Given the description of an element on the screen output the (x, y) to click on. 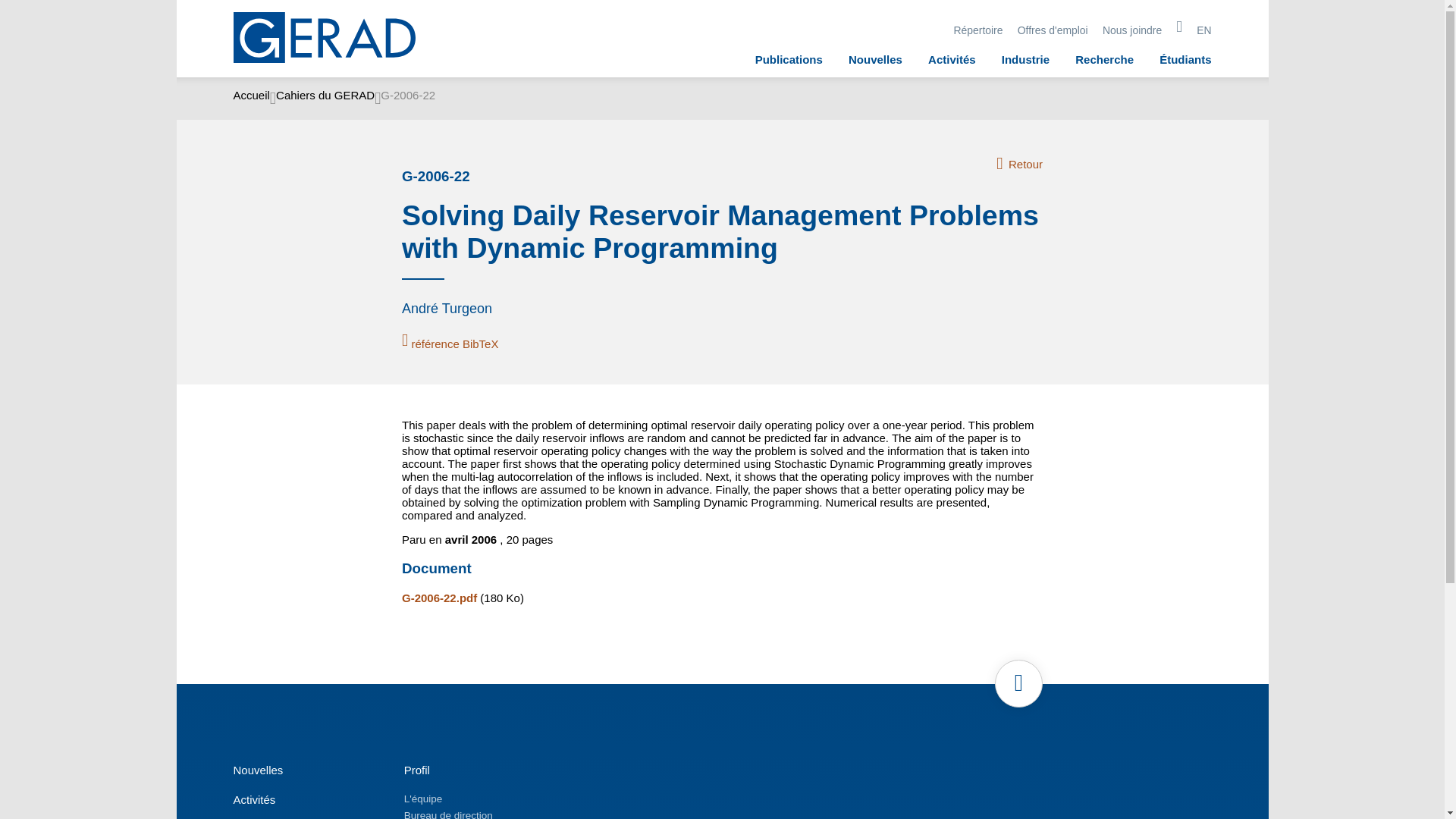
Offres d'emploi (1052, 30)
Industrie (1025, 59)
Retour (1018, 163)
G-2006-22.pdf (439, 597)
Cahiers du GERAD (325, 98)
Nouvelles (875, 59)
EN (1203, 30)
Recherche (1104, 59)
Nous joindre (1131, 30)
Nouvelles (257, 769)
Accueil (250, 98)
Publications (788, 59)
